Given the description of an element on the screen output the (x, y) to click on. 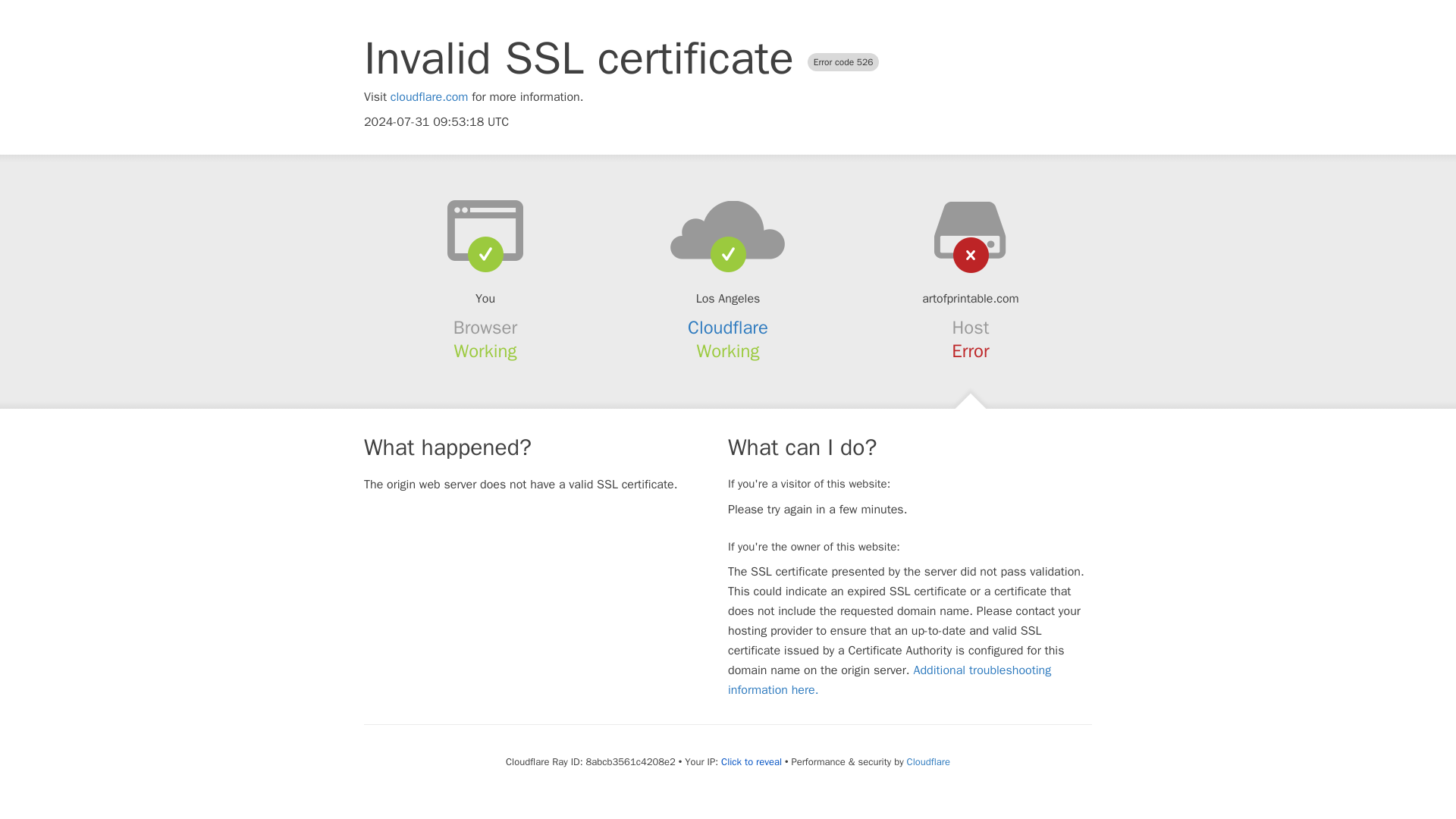
Cloudflare (727, 327)
cloudflare.com (429, 96)
Cloudflare (928, 761)
Additional troubleshooting information here. (889, 679)
Click to reveal (750, 762)
